Given the description of an element on the screen output the (x, y) to click on. 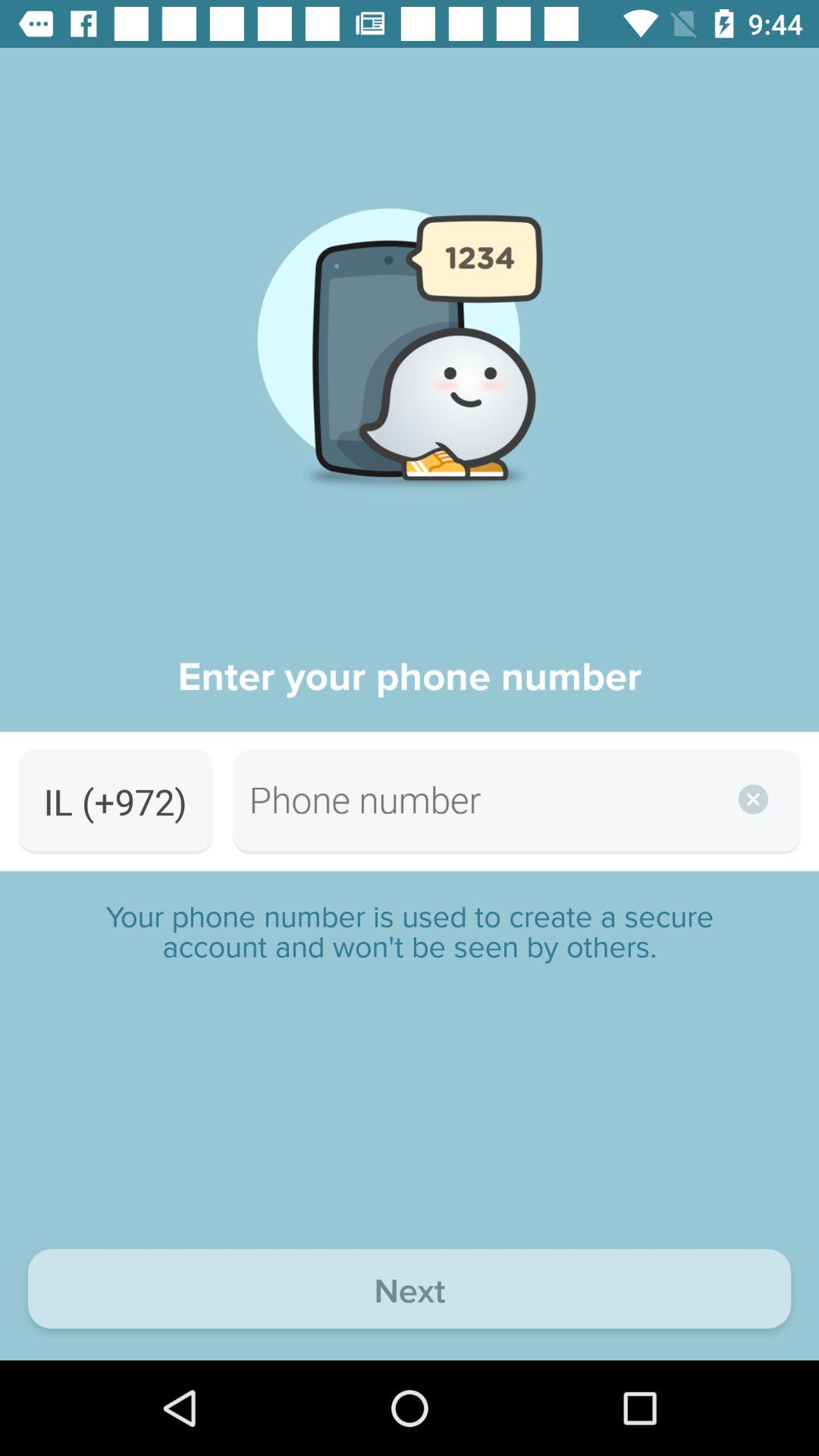
click il (+972) icon (114, 801)
